Given the description of an element on the screen output the (x, y) to click on. 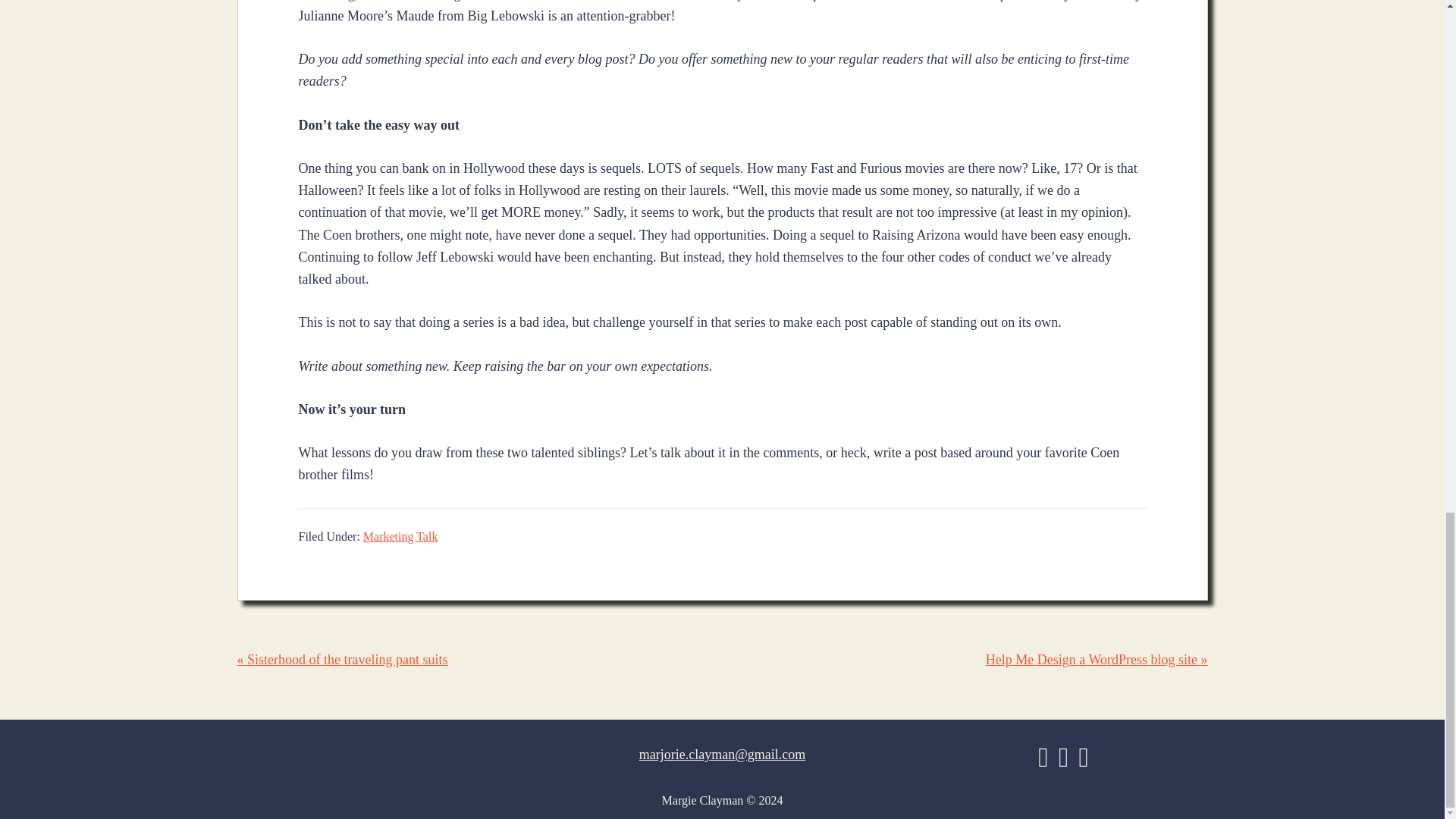
Marketing Talk (400, 535)
